Given the description of an element on the screen output the (x, y) to click on. 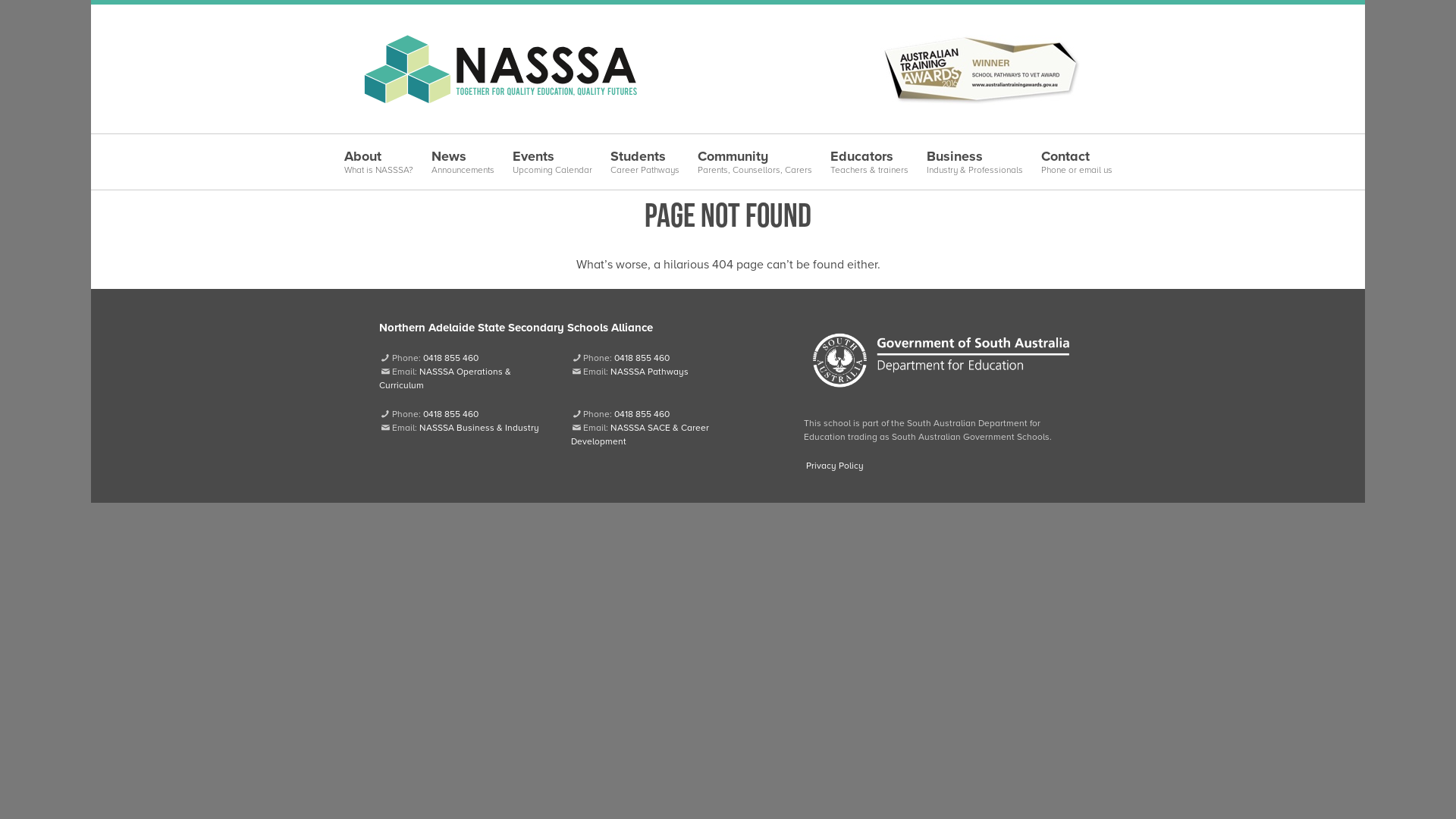
Students
Career Pathways Element type: text (644, 161)
0418 855 460 Element type: text (641, 413)
0418 855 460 Element type: text (641, 357)
Events
Upcoming Calendar Element type: text (552, 161)
Community
Parents, Counsellors, Carers Element type: text (754, 161)
Privacy Policy Element type: text (833, 465)
Educators
Teachers & trainers Element type: text (868, 161)
Contact
Phone or email us Element type: text (1075, 161)
About
What is NASSSA? Element type: text (378, 161)
NASSSA Operations & Curriculum Element type: text (445, 378)
NASSSA Pathways Element type: text (649, 371)
NASSSA Business & Industry Element type: text (479, 427)
News
Announcements Element type: text (462, 161)
0418 855 460 Element type: text (450, 413)
Business
Industry & Professionals Element type: text (974, 161)
0418 855 460 Element type: text (450, 357)
NASSSA SACE & Career Development Element type: text (640, 434)
